Given the description of an element on the screen output the (x, y) to click on. 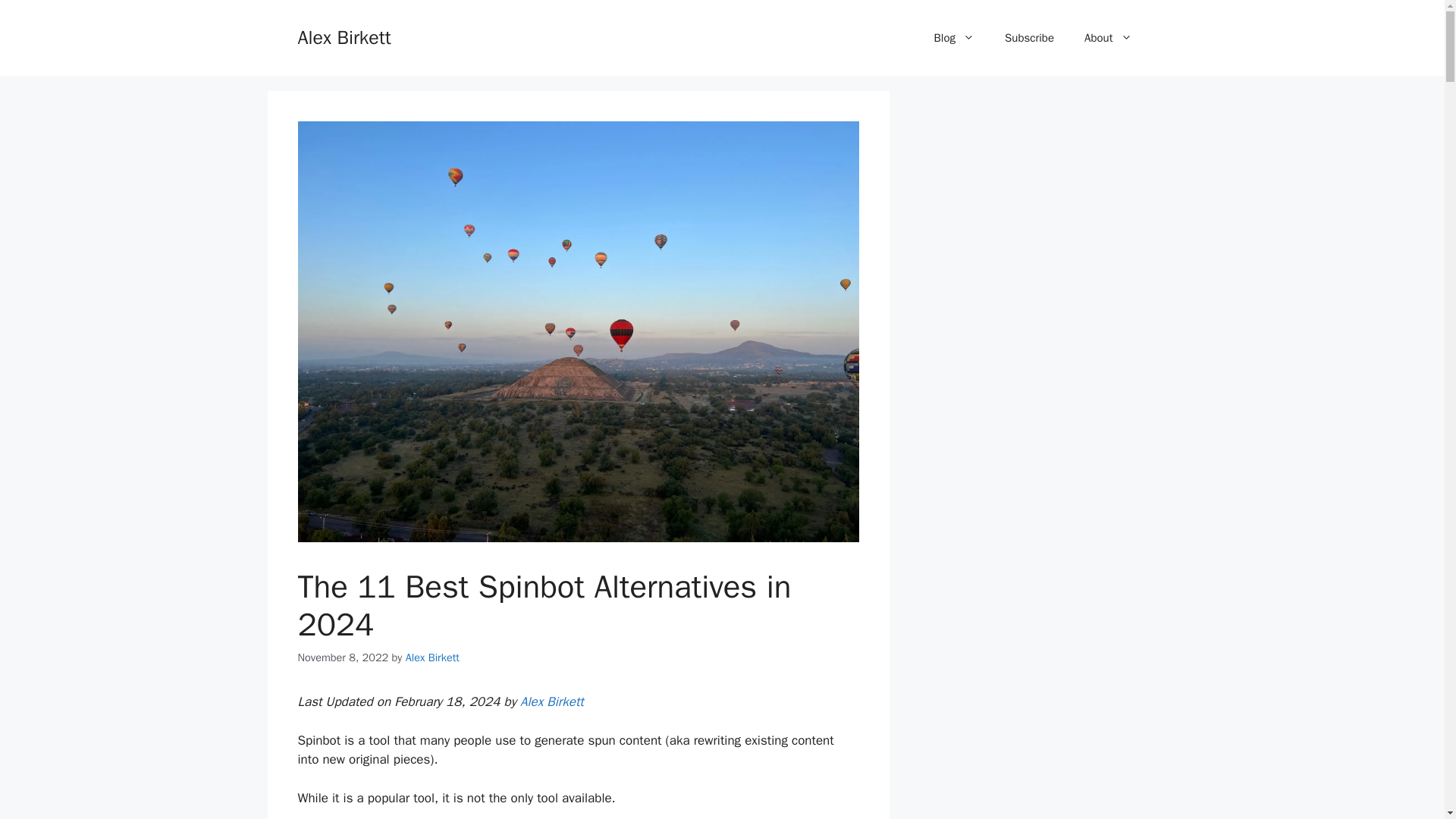
Blog (954, 37)
View all posts by Alex Birkett (433, 657)
About (1107, 37)
Alex Birkett (433, 657)
Alex Birkett (343, 37)
Subscribe (1029, 37)
Alex Birkett (551, 701)
